Given the description of an element on the screen output the (x, y) to click on. 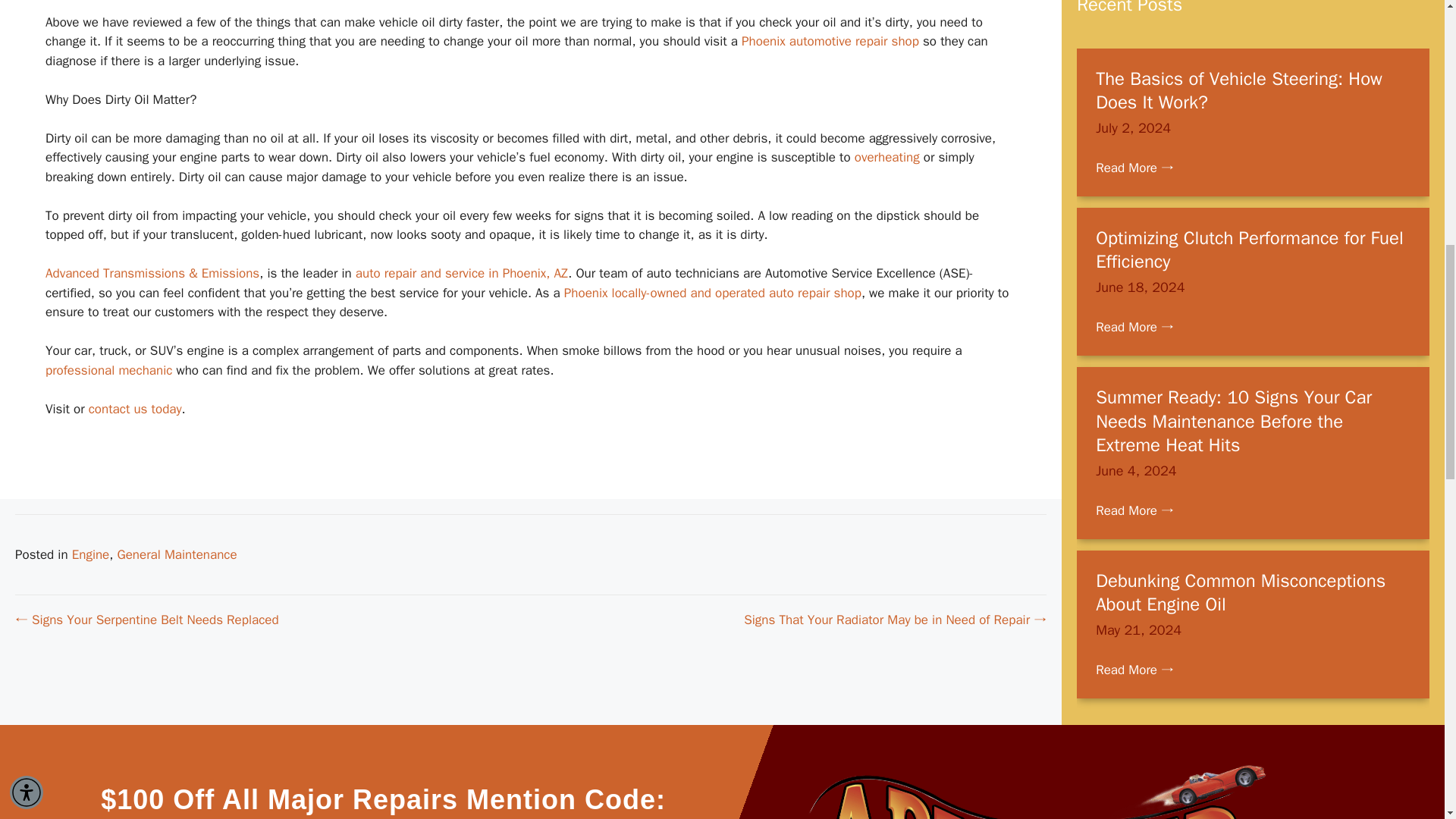
Phoenix locally-owned and operated auto repair shop (712, 293)
Phoenix automotive repair shop (829, 41)
overheating (887, 157)
auto repair and service in Phoenix, AZ (461, 273)
